Given the description of an element on the screen output the (x, y) to click on. 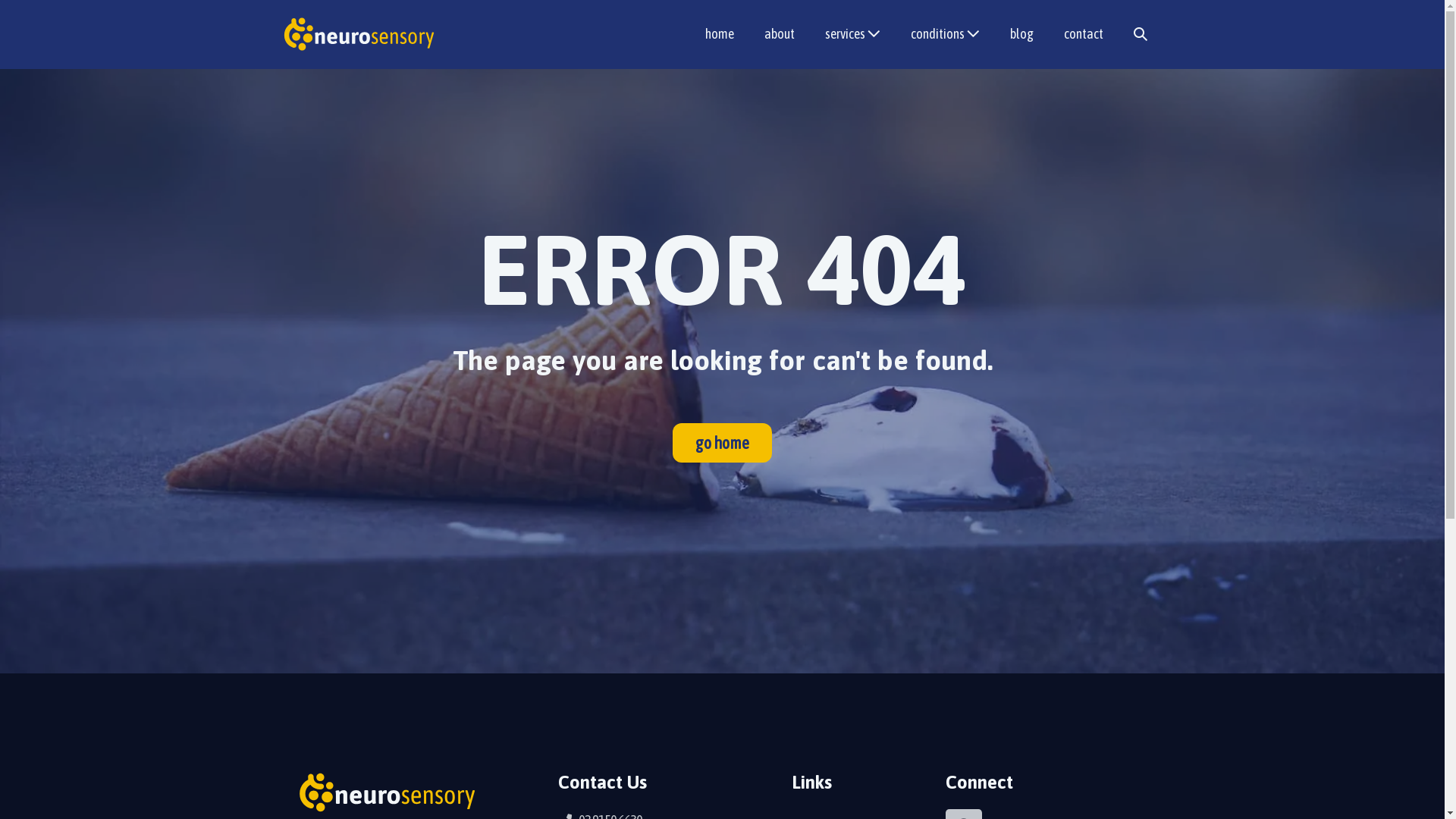
home Element type: text (719, 34)
blog Element type: text (1021, 34)
go home Element type: text (721, 442)
contact Element type: text (1082, 34)
services Element type: text (852, 34)
Neurosensory Element type: hover (357, 33)
conditions Element type: text (944, 34)
about Element type: text (779, 34)
